Given the description of an element on the screen output the (x, y) to click on. 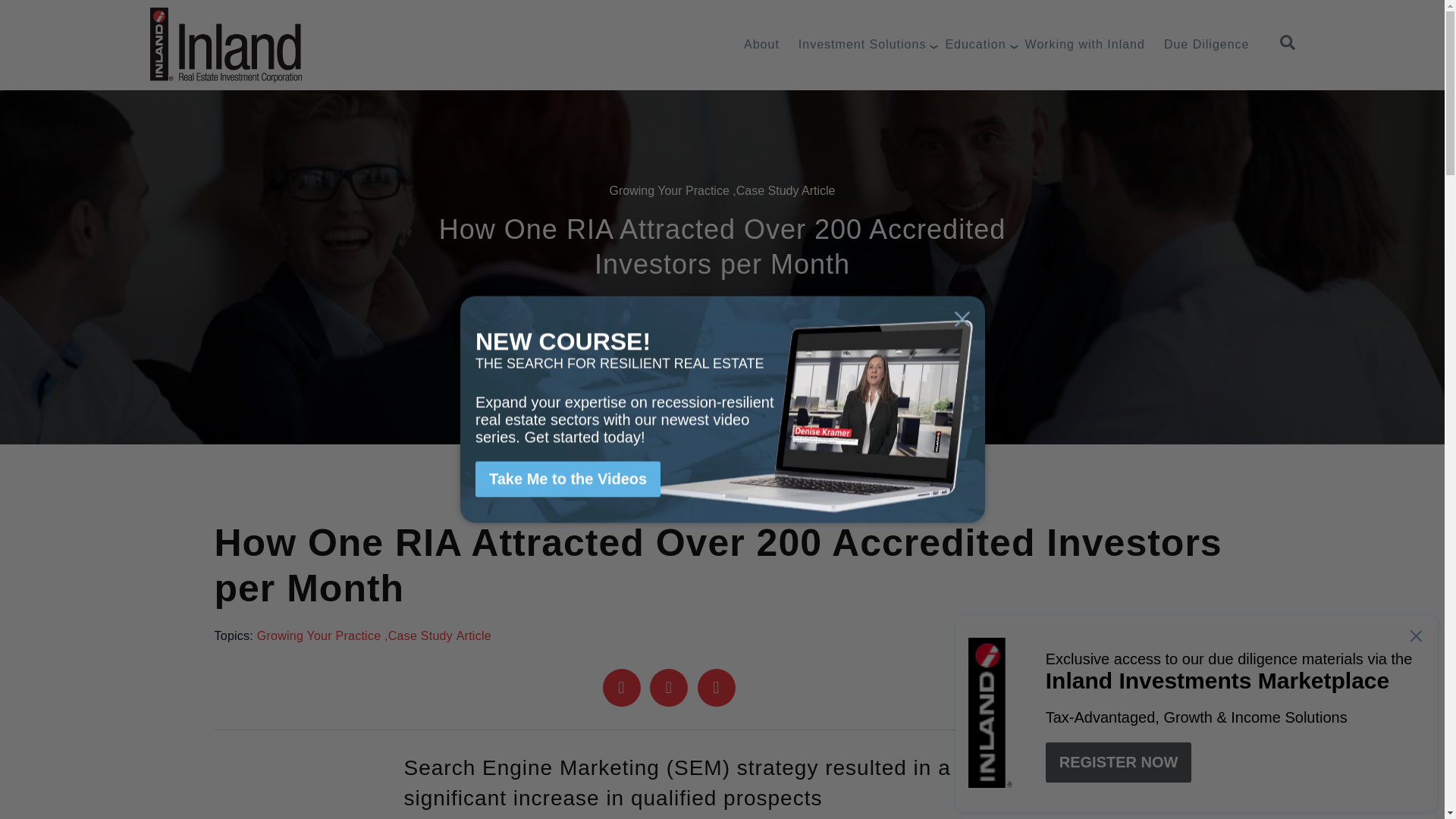
Investment Solutions (861, 44)
Due Diligence (1206, 44)
Education (975, 44)
Popup CTA (722, 408)
About (761, 44)
Popup CTA (1196, 713)
,Case Study (764, 190)
Growing Your Practice (669, 190)
Working with Inland (1084, 44)
Article (818, 190)
by JOHN GULINO (867, 328)
